Given the description of an element on the screen output the (x, y) to click on. 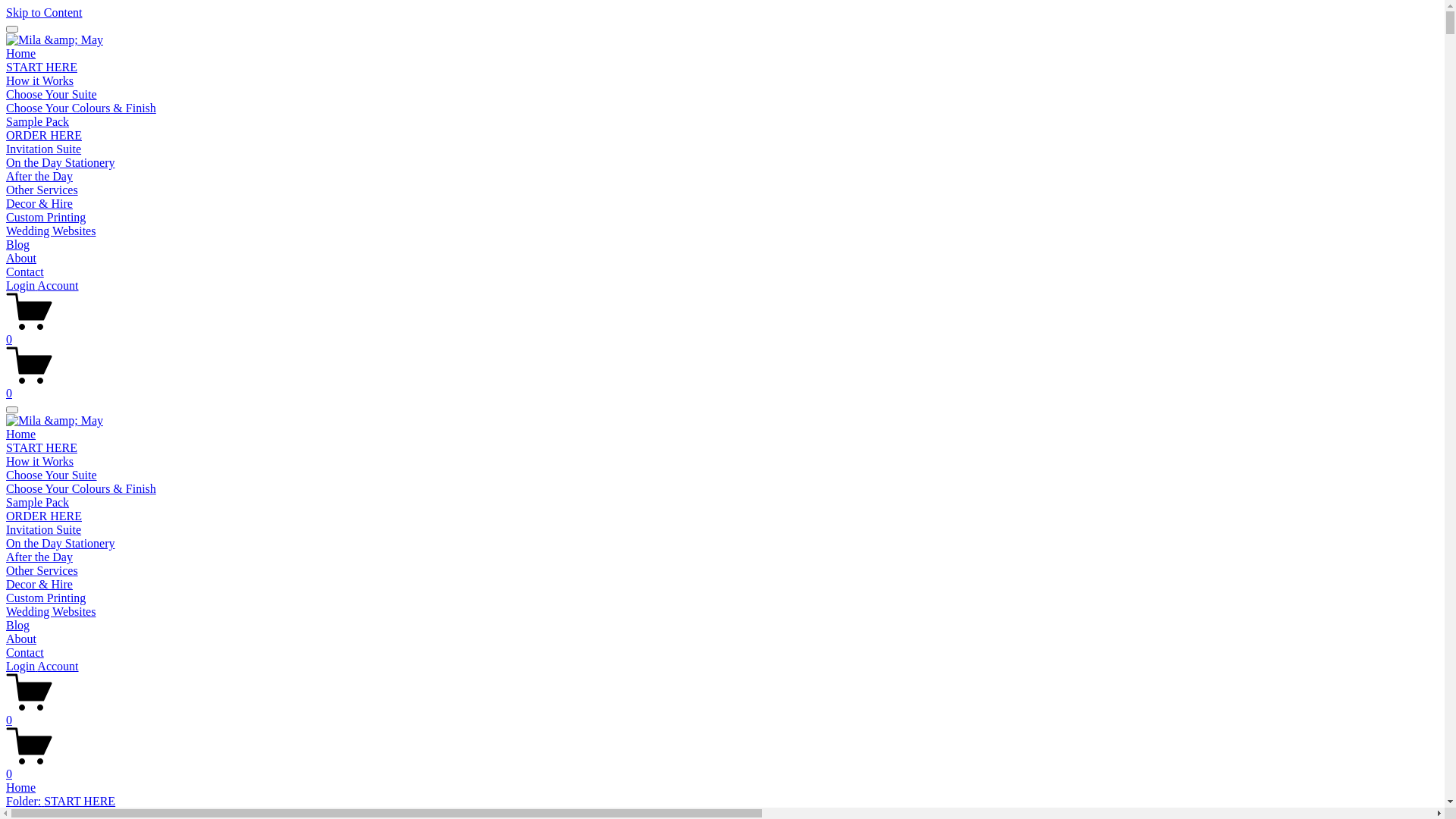
0 Element type: text (722, 386)
Other Services Element type: text (42, 570)
Choose Your Colours & Finish Element type: text (81, 488)
Blog Element type: text (17, 624)
ORDER HERE Element type: text (43, 515)
Contact Element type: text (24, 271)
Sample Pack Element type: text (37, 501)
Home Element type: text (722, 787)
Sample Pack Element type: text (37, 121)
Custom Printing Element type: text (45, 216)
START HERE Element type: text (41, 66)
Home Element type: text (20, 53)
0 Element type: text (722, 332)
Invitation Suite Element type: text (43, 529)
START HERE Element type: text (41, 447)
How it Works Element type: text (39, 461)
Wedding Websites Element type: text (50, 230)
Choose Your Suite Element type: text (51, 93)
About Element type: text (21, 638)
Choose Your Colours & Finish Element type: text (81, 107)
Blog Element type: text (17, 244)
ORDER HERE Element type: text (43, 134)
On the Day Stationery Element type: text (60, 542)
Custom Printing Element type: text (45, 597)
0 Element type: text (722, 767)
Choose Your Suite Element type: text (51, 474)
Folder: START HERE Element type: text (722, 801)
Decor & Hire Element type: text (39, 583)
How it Works Element type: text (39, 80)
Skip to Content Element type: text (43, 12)
About Element type: text (21, 257)
0 Element type: text (722, 713)
Home Element type: text (20, 433)
After the Day Element type: text (39, 175)
Login Account Element type: text (42, 285)
On the Day Stationery Element type: text (60, 162)
After the Day Element type: text (39, 556)
Login Account Element type: text (42, 665)
Contact Element type: text (24, 652)
Invitation Suite Element type: text (43, 148)
Other Services Element type: text (42, 189)
Wedding Websites Element type: text (50, 611)
Decor & Hire Element type: text (39, 203)
